Given the description of an element on the screen output the (x, y) to click on. 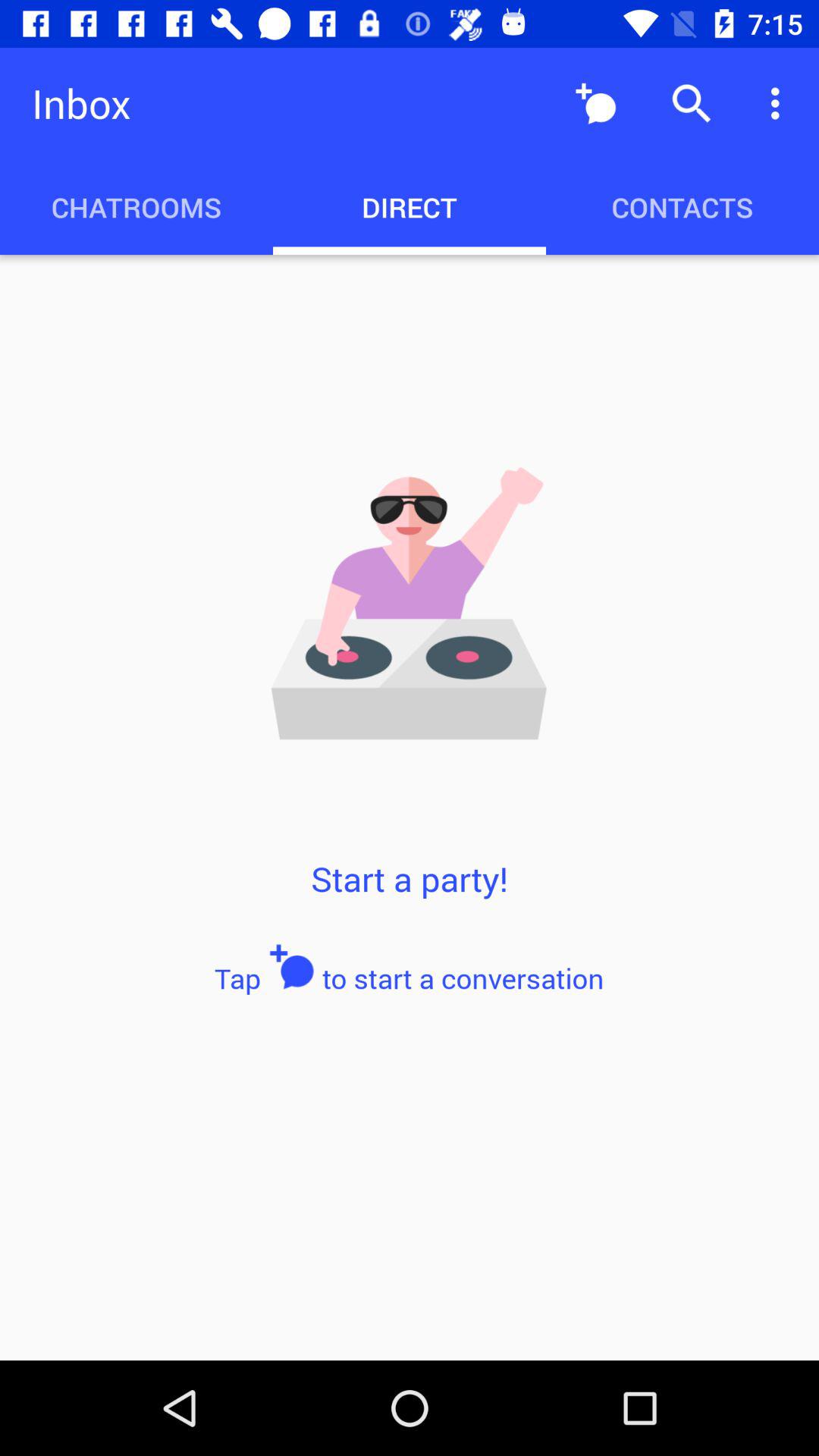
select item to the right of the inbox icon (595, 103)
